Given the description of an element on the screen output the (x, y) to click on. 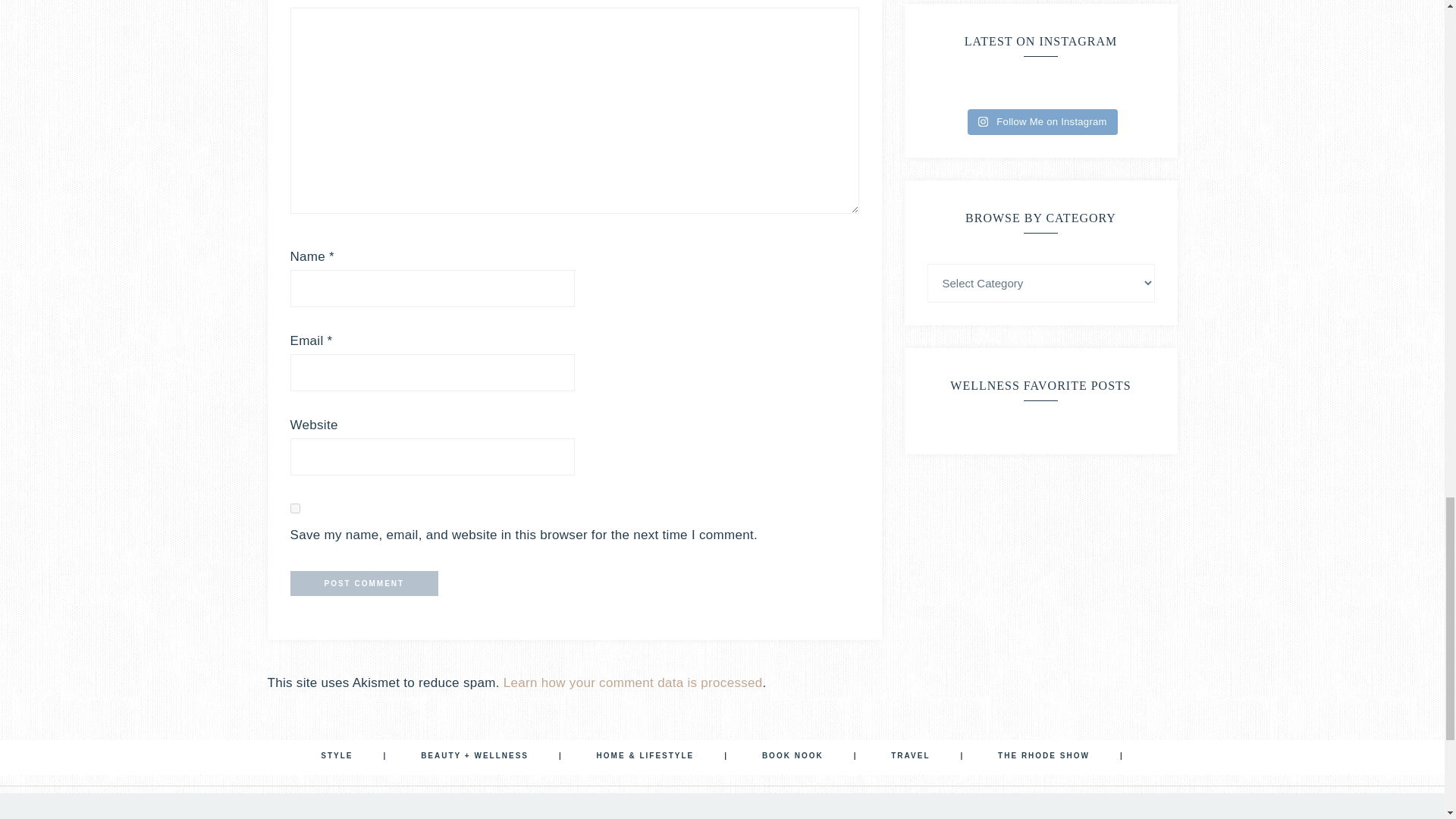
yes (294, 508)
Learn how your comment data is processed (632, 682)
Post Comment (363, 583)
Post Comment (363, 583)
